Given the description of an element on the screen output the (x, y) to click on. 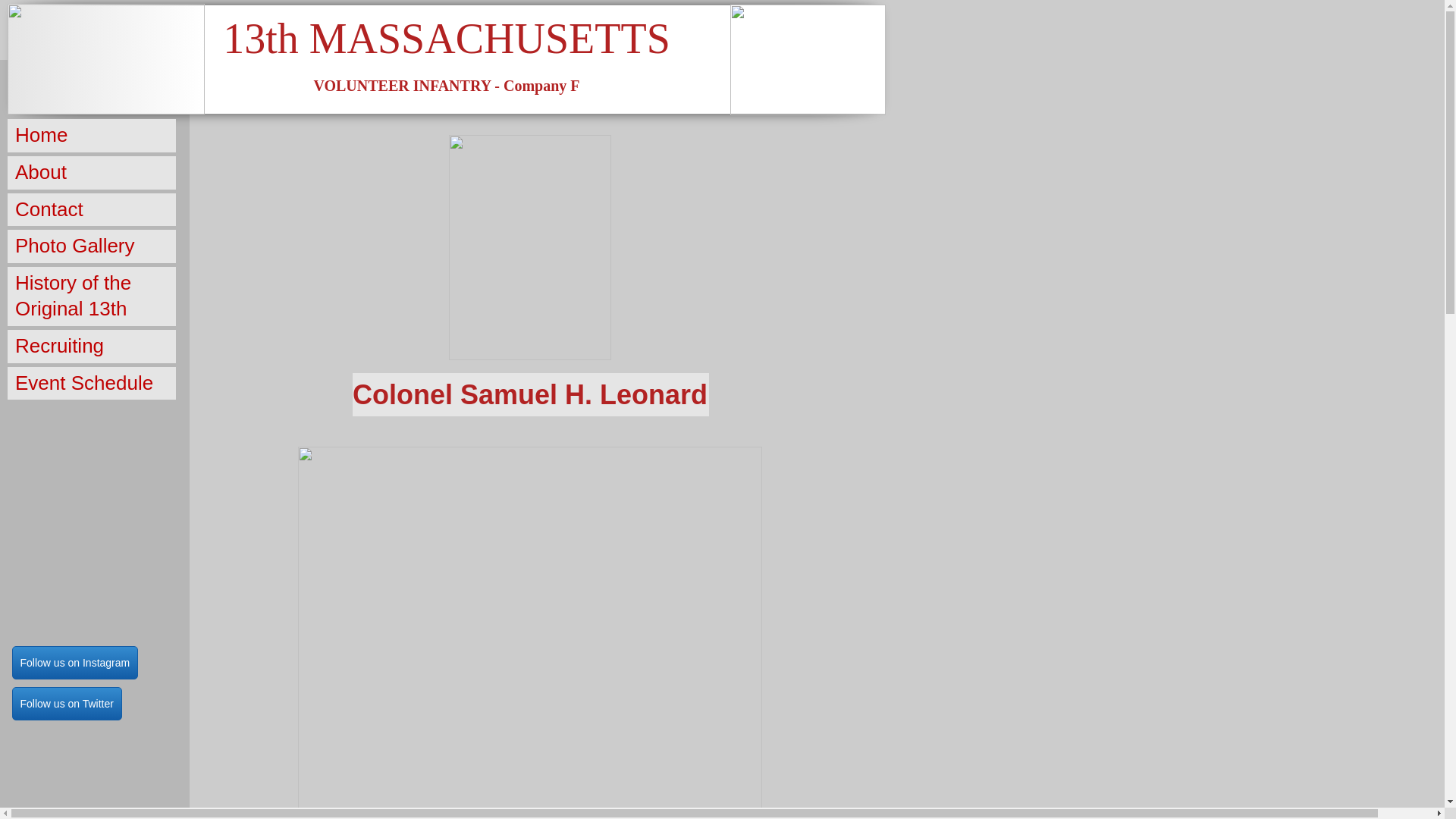
Follow us on Twitter Element type: text (67, 703)
Recruiting Element type: text (91, 346)
History of the Original 13th Element type: text (91, 296)
Photo Gallery Element type: text (91, 246)
Contact Element type: text (91, 209)
About Element type: text (91, 172)
Event Schedule Element type: text (91, 383)
Home Element type: text (91, 135)
Follow us on Instagram Element type: text (75, 662)
